Given the description of an element on the screen output the (x, y) to click on. 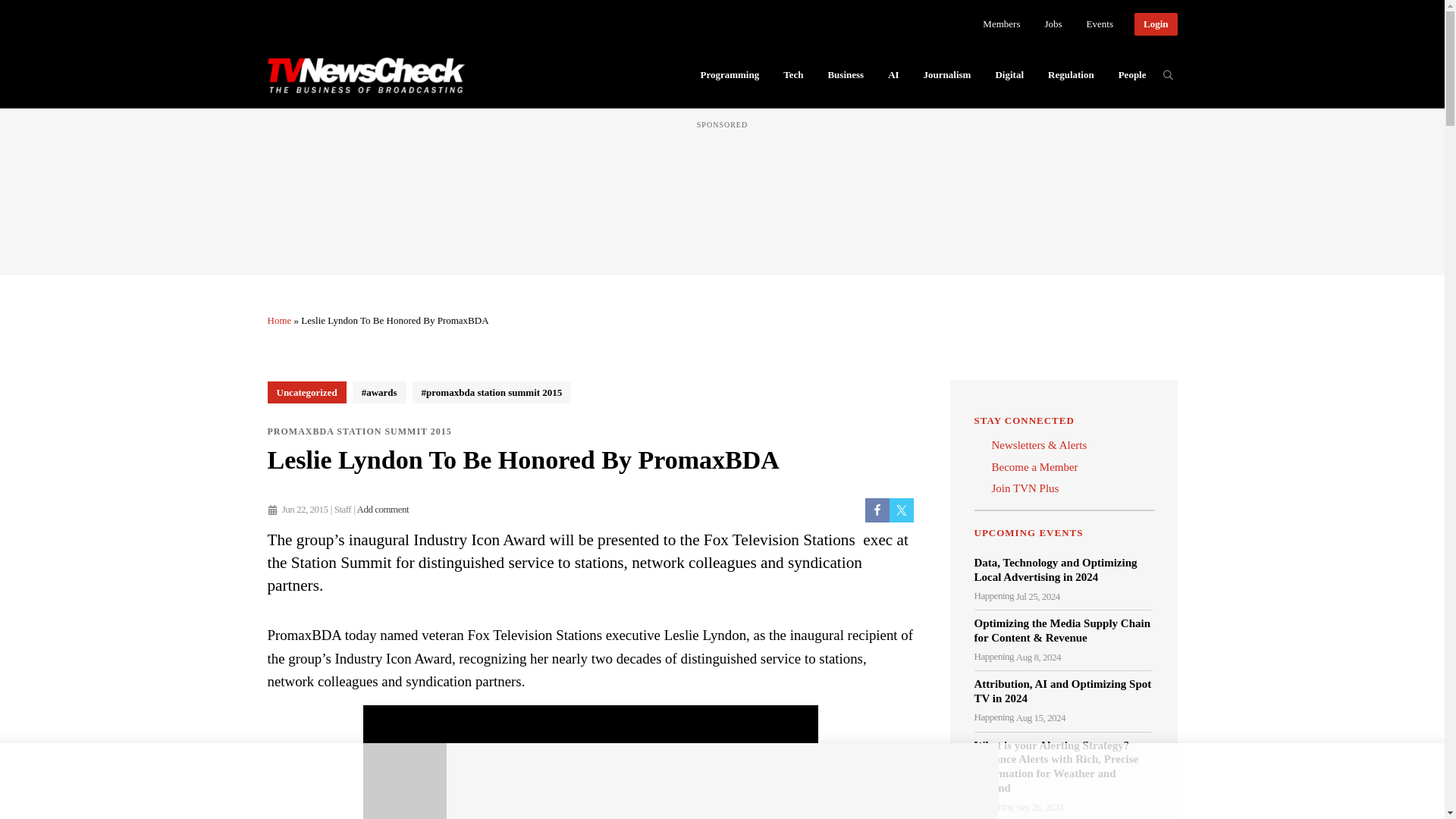
Business (845, 74)
Regulation (1070, 74)
Add comment (382, 509)
Home (278, 319)
Login (1155, 24)
awards (379, 392)
promaxbda station summit 2015 (492, 392)
People (1132, 74)
Events (1099, 23)
Jobs (1053, 23)
Uncategorized (306, 392)
Members (1001, 23)
Share on Twitter (900, 509)
Digital (1008, 74)
